Given the description of an element on the screen output the (x, y) to click on. 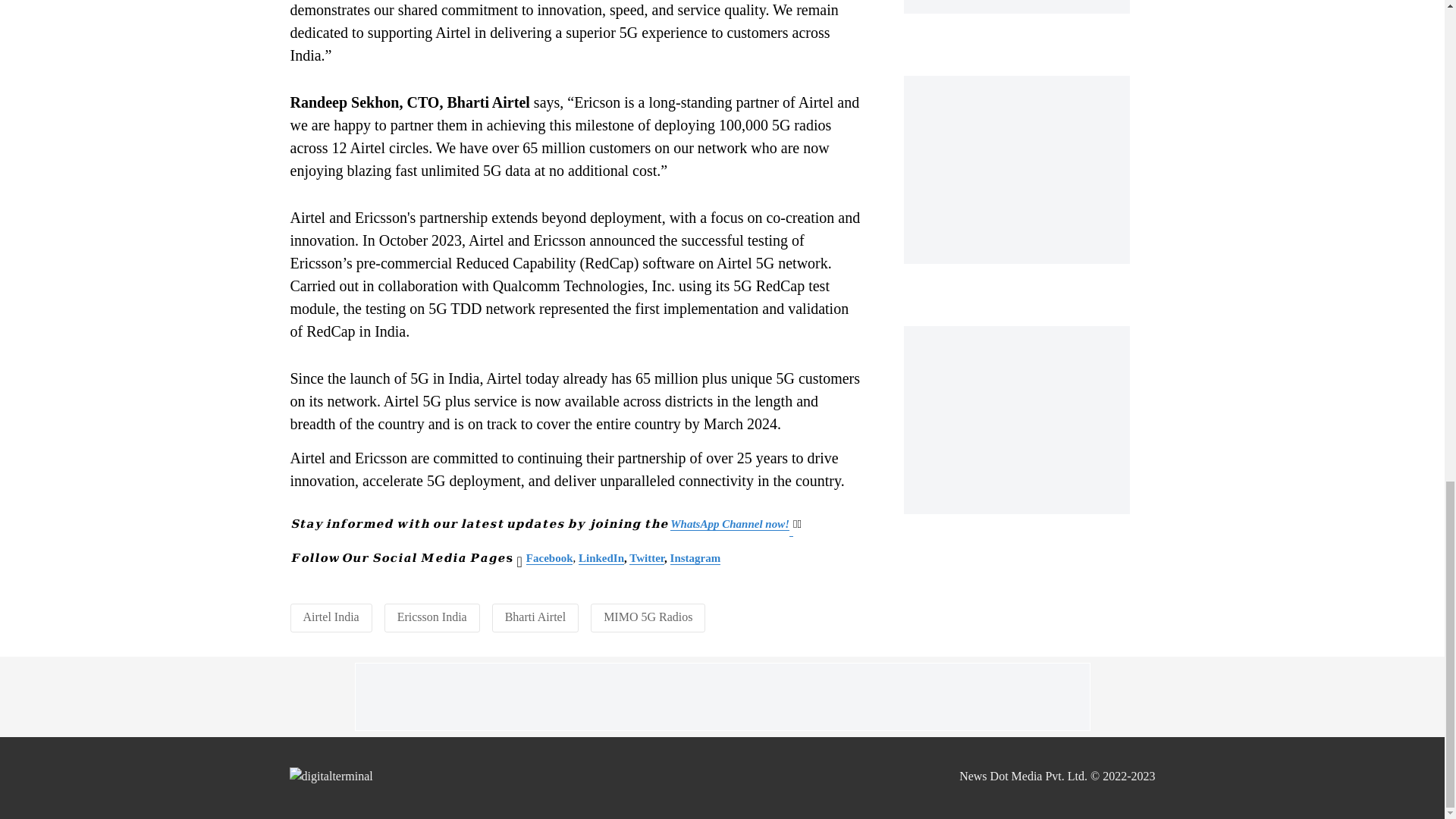
Ericsson India (432, 616)
Bharti Airtel (535, 616)
Airtel India (330, 616)
WhatsApp Channel now! (729, 522)
Facebook (549, 558)
Twitter (645, 558)
MIMO 5G Radios (648, 616)
LinkedIn (601, 558)
Instagram (694, 558)
